Given the description of an element on the screen output the (x, y) to click on. 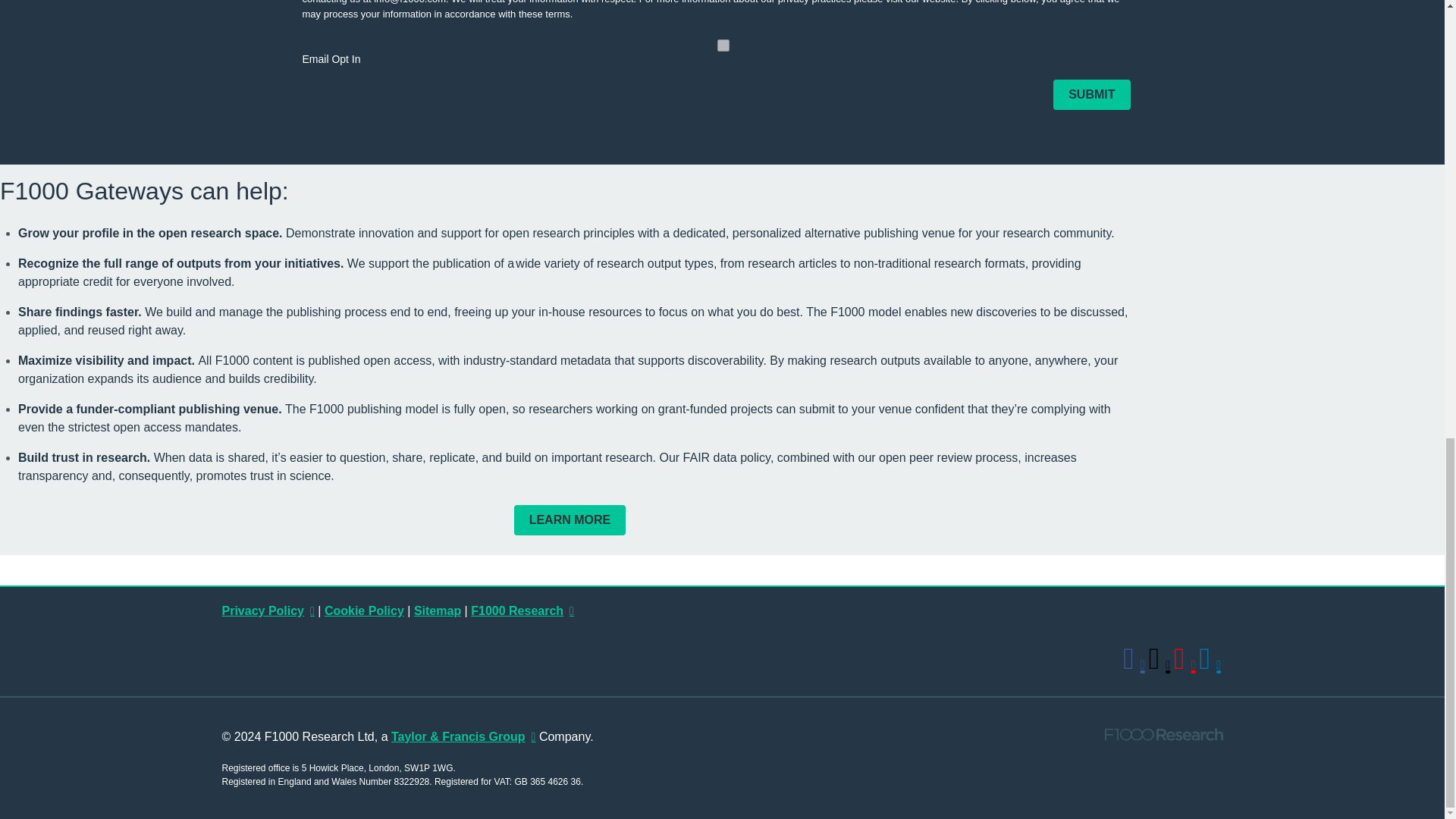
Submit (1090, 94)
LEARN MORE (569, 520)
Cookie Policy (364, 610)
Privacy Policy (267, 610)
Sitemap (437, 610)
Submit (1090, 94)
Cookie Policy (364, 610)
F1000 Research (521, 610)
Privacy Policy (267, 610)
Taylor and Francis Group Website (463, 736)
